Given the description of an element on the screen output the (x, y) to click on. 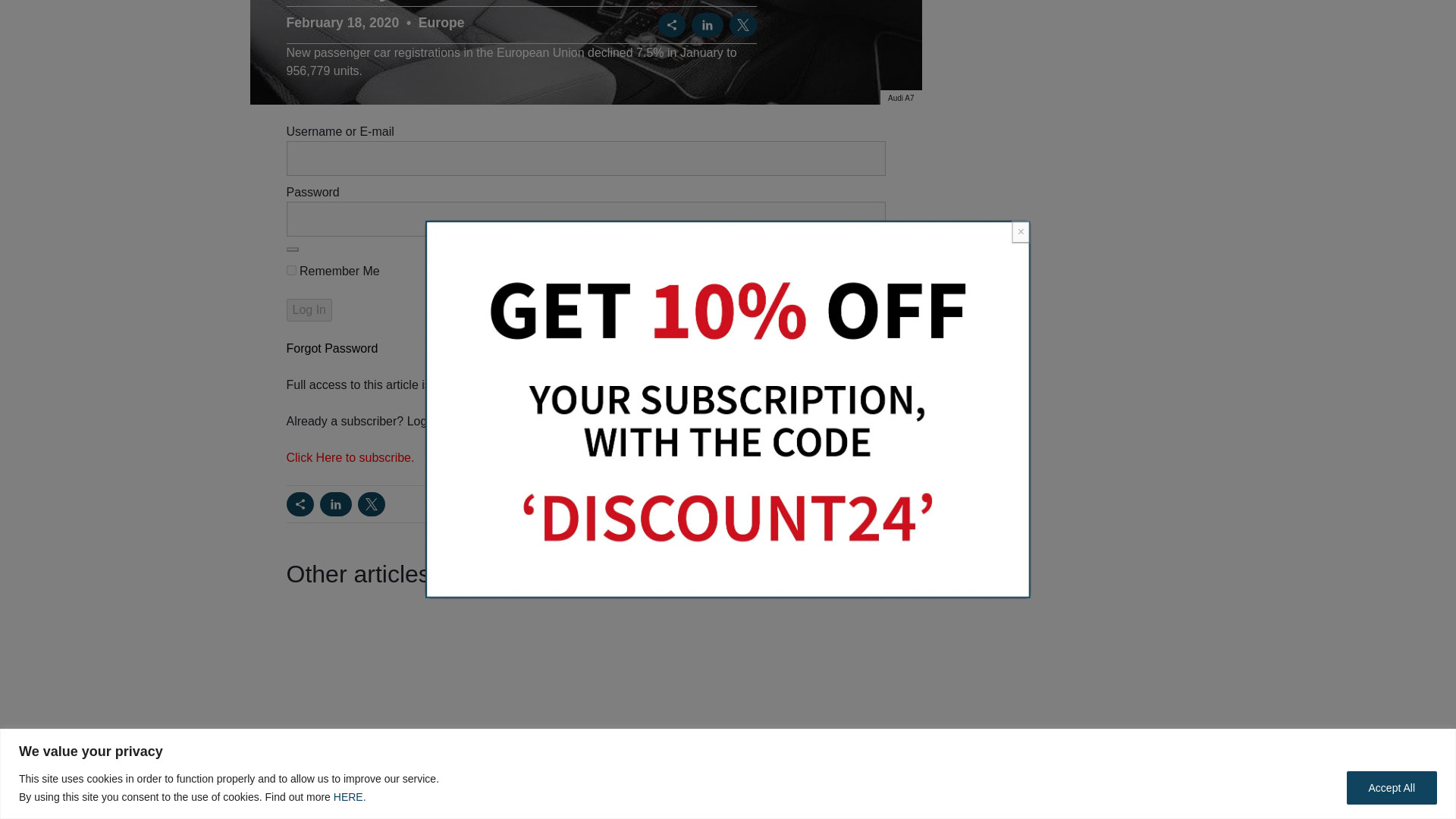
Log In (308, 309)
Audi A7 (901, 98)
HERE. (349, 138)
Accept All (1391, 129)
